Given the description of an element on the screen output the (x, y) to click on. 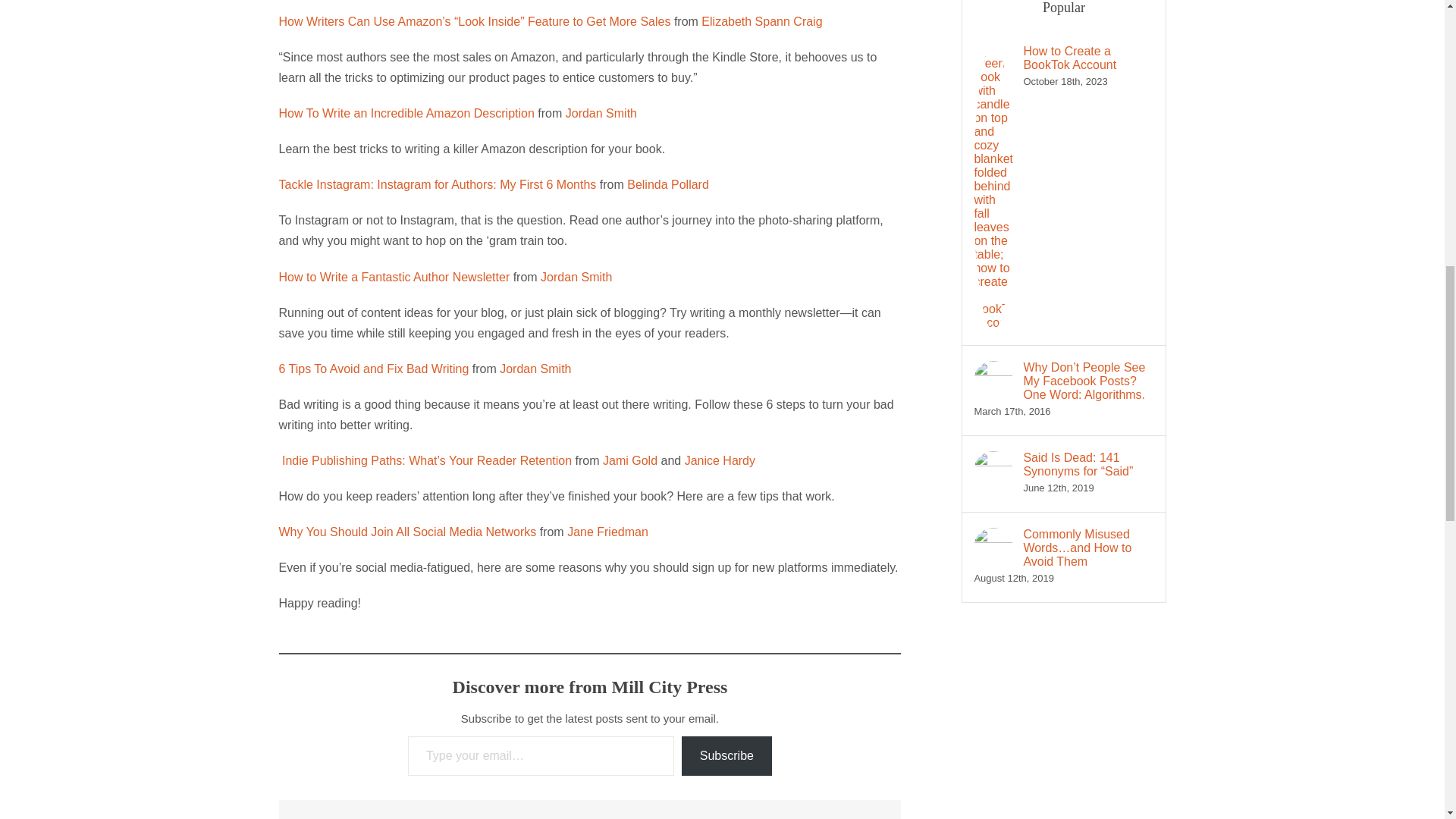
How to Write a Fantastic Author Newsletter (395, 276)
Jordan Smith (575, 276)
Please fill in this field. (540, 756)
Belinda Pollard (668, 184)
Jordan Smith (601, 113)
Elizabeth Spann Craig (761, 21)
Tackle Instagram: Instagram for Authors: My First 6 Months (437, 184)
Janice Hardy (719, 460)
How To Write an Incredible Amazon Description (406, 113)
Why You Should Join All Social Media Networks (408, 531)
